Given the description of an element on the screen output the (x, y) to click on. 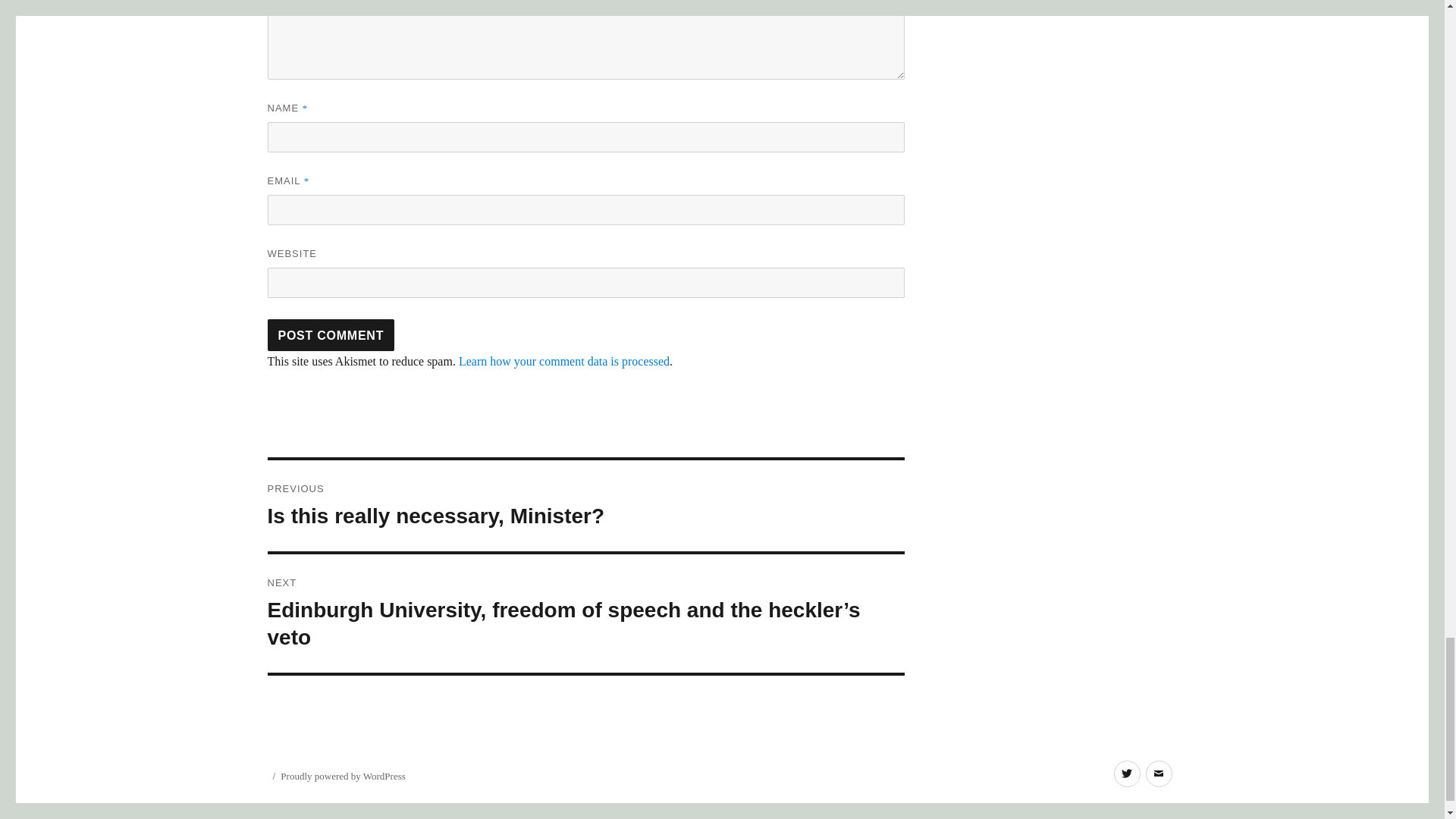
Post Comment (330, 335)
Learn how your comment data is processed (563, 360)
Post Comment (585, 505)
